Given the description of an element on the screen output the (x, y) to click on. 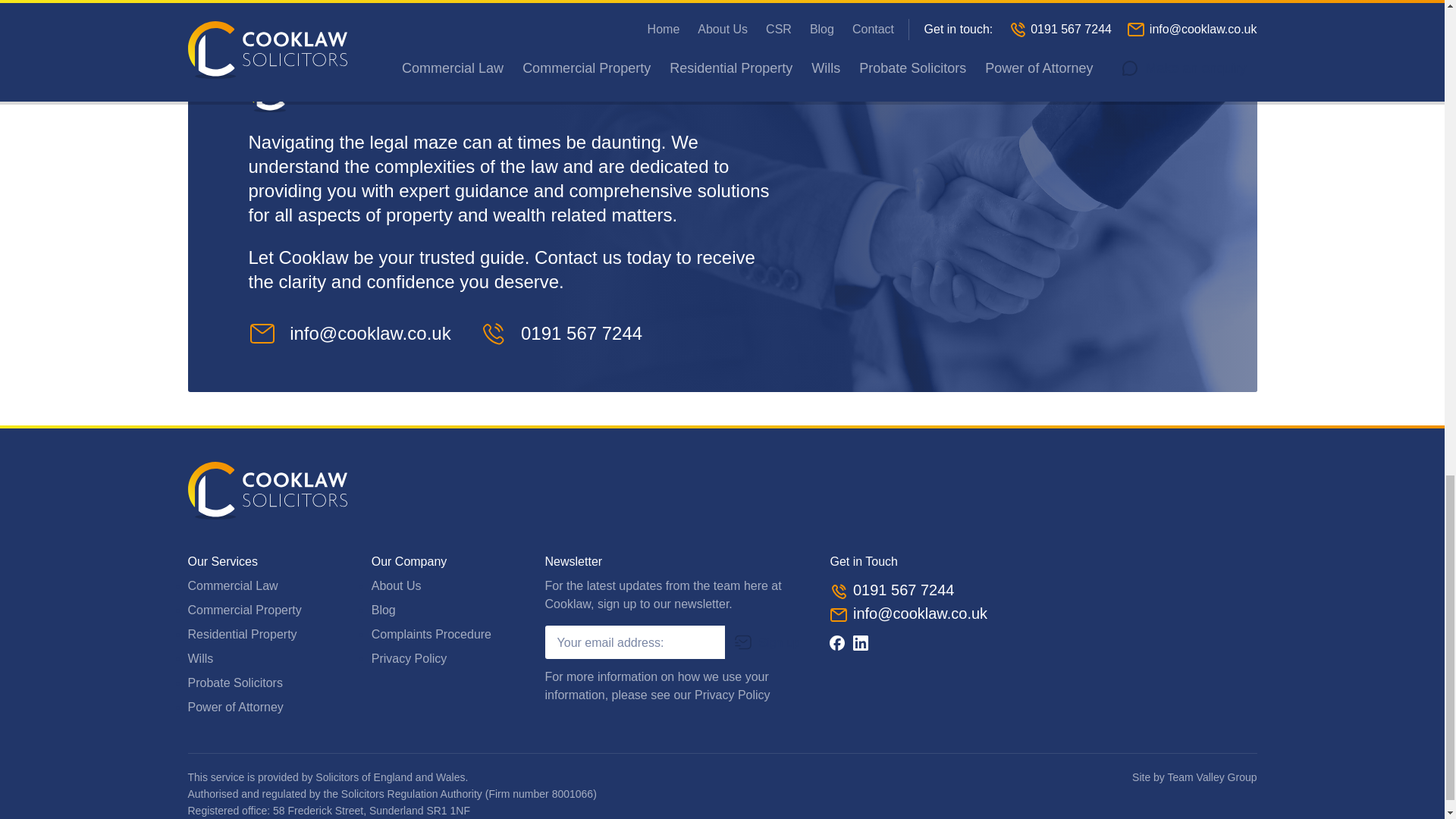
Facebook (836, 642)
Commercial Law (232, 585)
0191 567 7244 (578, 332)
Linkedin (860, 642)
Sign up (765, 642)
